Given the description of an element on the screen output the (x, y) to click on. 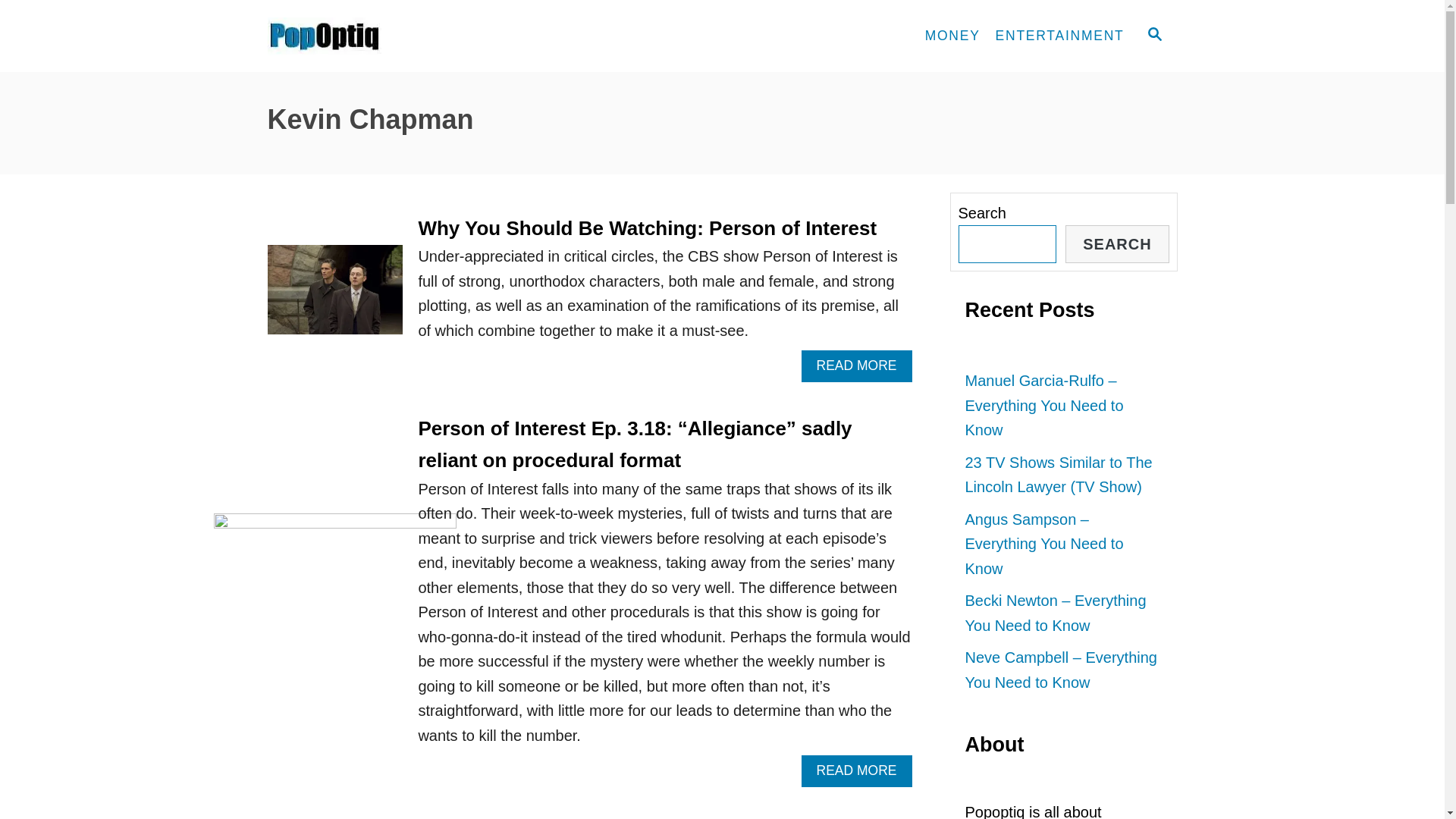
Why You Should Be Watching: Person of Interest (334, 296)
PopOptiq (403, 36)
Why You Should Be Watching: Person of Interest (646, 228)
ENTERTAINMENT (1060, 36)
MONEY (952, 36)
SEARCH (1117, 243)
SEARCH (1153, 35)
